Given the description of an element on the screen output the (x, y) to click on. 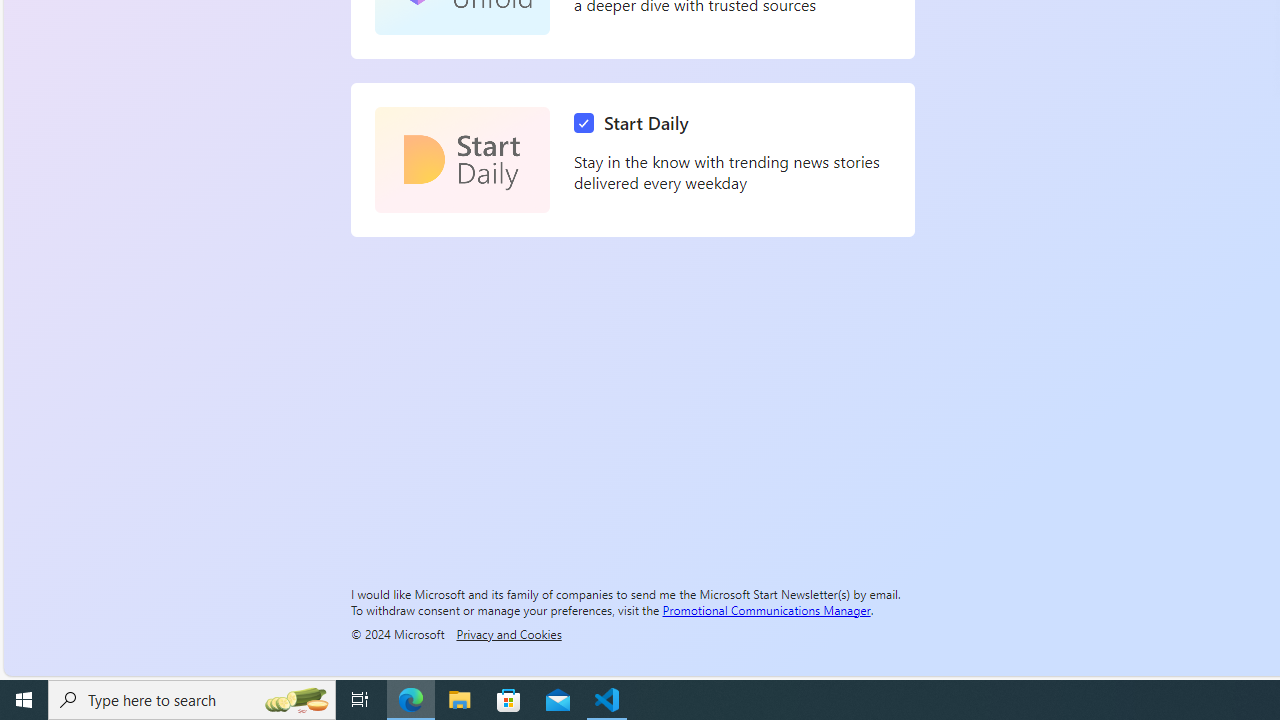
Promotional Communications Manager (765, 609)
Start Daily (635, 123)
Start Daily (461, 160)
Privacy and Cookies (508, 633)
